Given the description of an element on the screen output the (x, y) to click on. 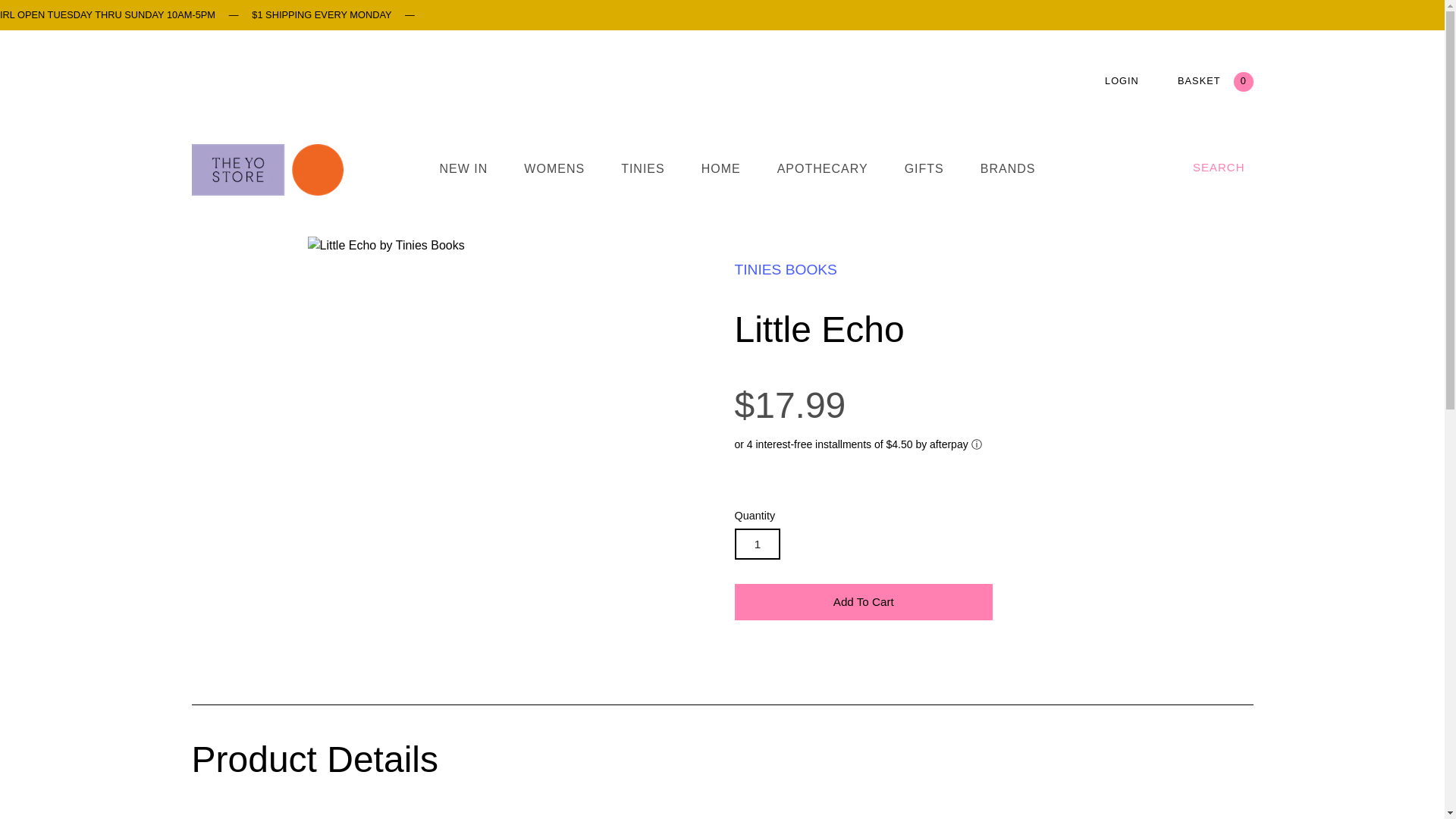
1 (756, 543)
NEW IN (463, 177)
BASKET 0 (1214, 80)
LOGIN (1121, 80)
TINIES (643, 177)
WOMENS (554, 177)
